Given the description of an element on the screen output the (x, y) to click on. 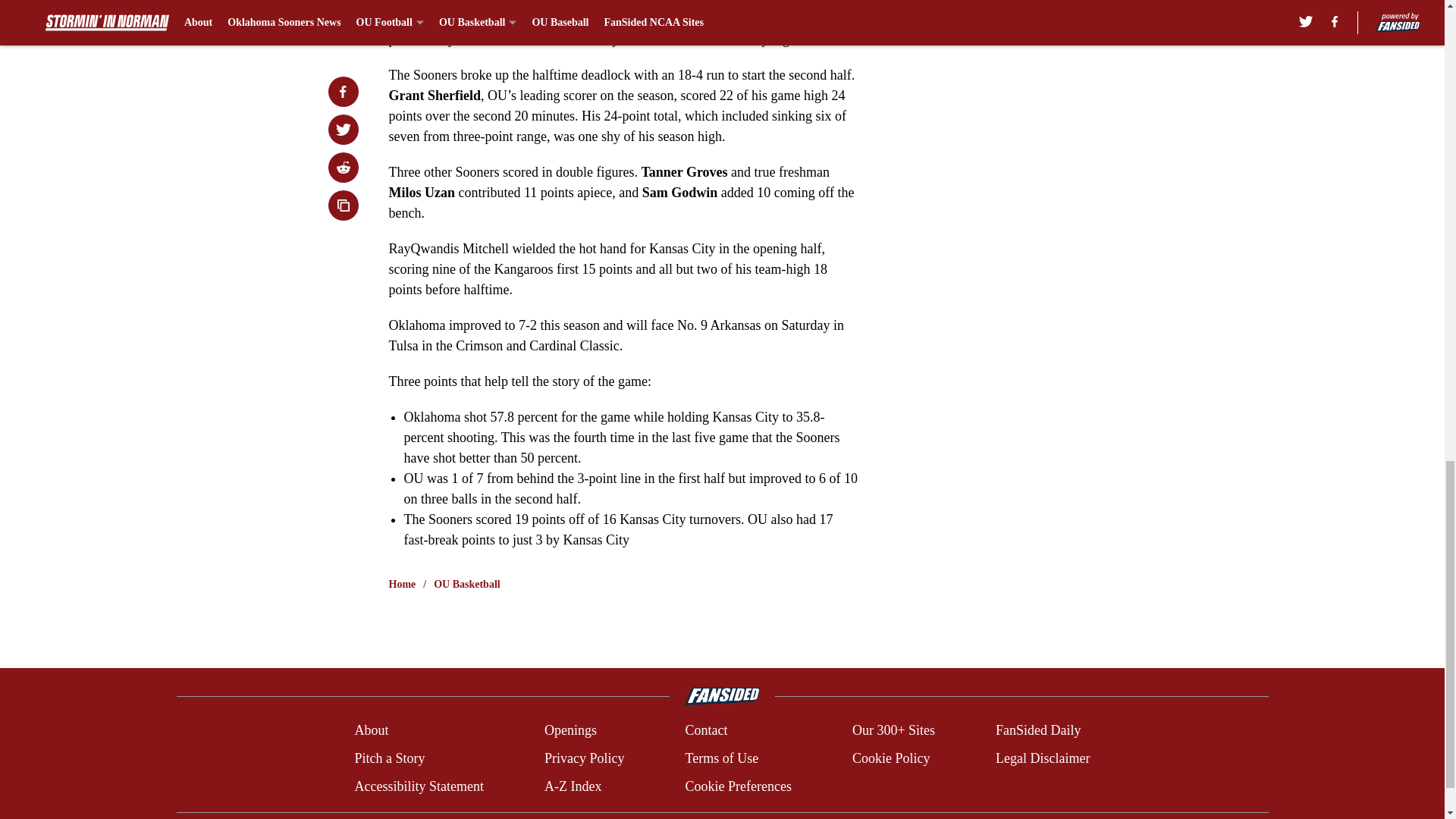
Terms of Use (721, 758)
About (370, 730)
Accessibility Statement (418, 786)
Home (401, 584)
Privacy Policy (584, 758)
OU Basketball (466, 584)
Cookie Policy (890, 758)
Cookie Preferences (737, 786)
Contact (705, 730)
FanSided Daily (1038, 730)
